Given the description of an element on the screen output the (x, y) to click on. 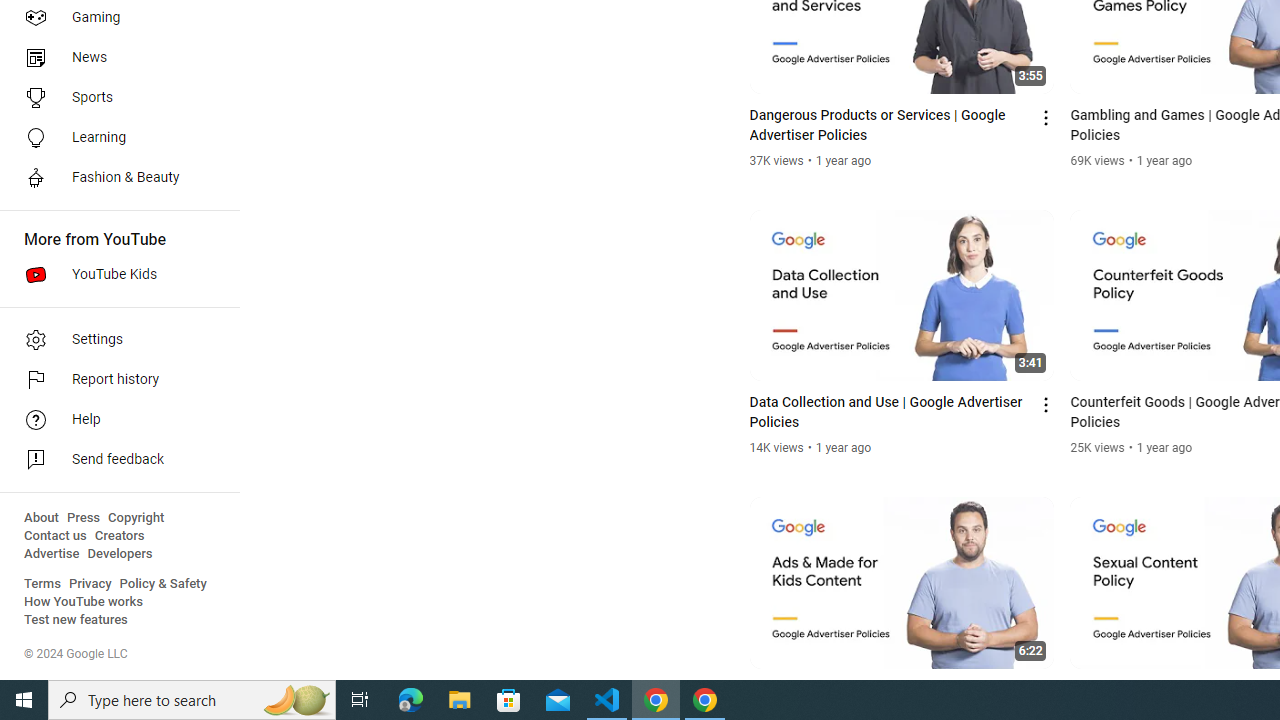
Press (83, 518)
News (113, 57)
About (41, 518)
Send feedback (113, 459)
Terms (42, 584)
Settings (113, 339)
Sports (113, 97)
Policy & Safety (163, 584)
Learning (113, 137)
Privacy (89, 584)
Copyright (136, 518)
Test new features (76, 620)
Fashion & Beauty (113, 177)
